Given the description of an element on the screen output the (x, y) to click on. 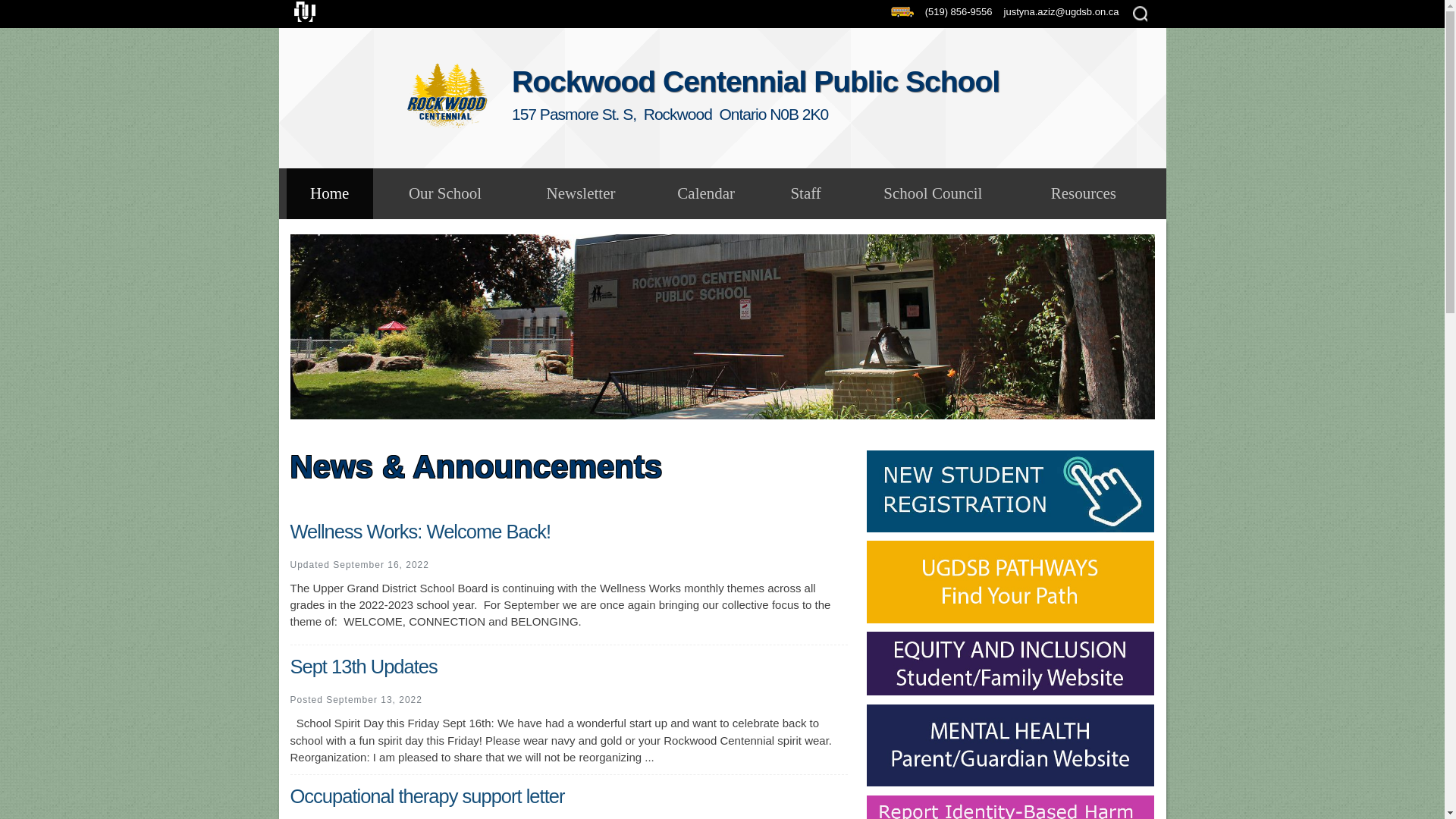
Wellness Works: Welcome Back! (419, 531)
Home (329, 193)
Resources (1083, 193)
Our School (444, 193)
Rockwood Centennial Public School (447, 93)
Occupational therapy support letter (426, 795)
School Council (932, 193)
Newsletter (579, 193)
Calendar (705, 193)
School Council (932, 193)
Search (24, 9)
Staff (806, 193)
Sept 13th Updates (362, 666)
Staff (806, 193)
Resources (1083, 193)
